Given the description of an element on the screen output the (x, y) to click on. 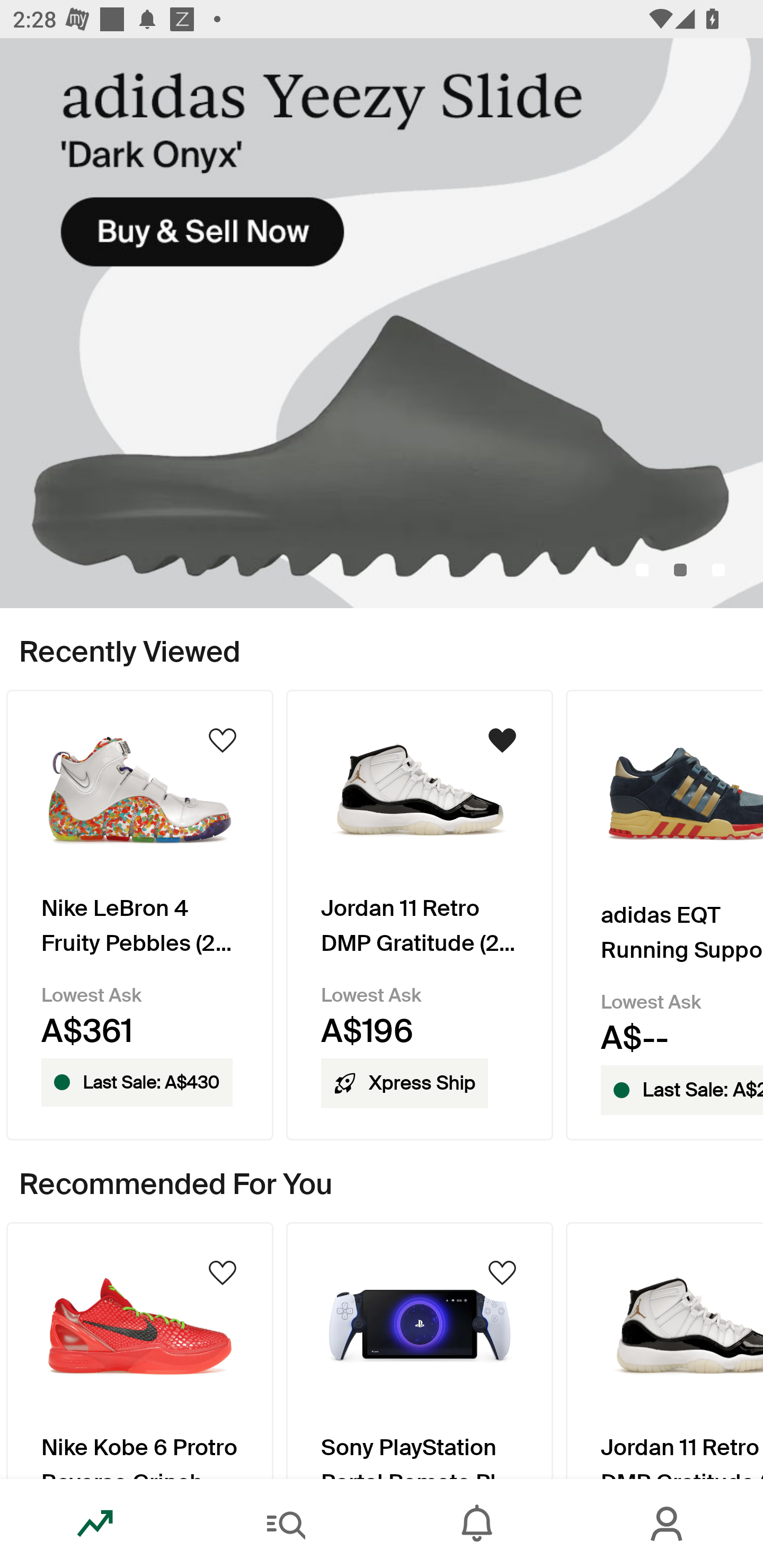
Product Image Nike Kobe 6 Protro Reverse Grinch (139, 1349)
Search (285, 1523)
Inbox (476, 1523)
Account (667, 1523)
